Given the description of an element on the screen output the (x, y) to click on. 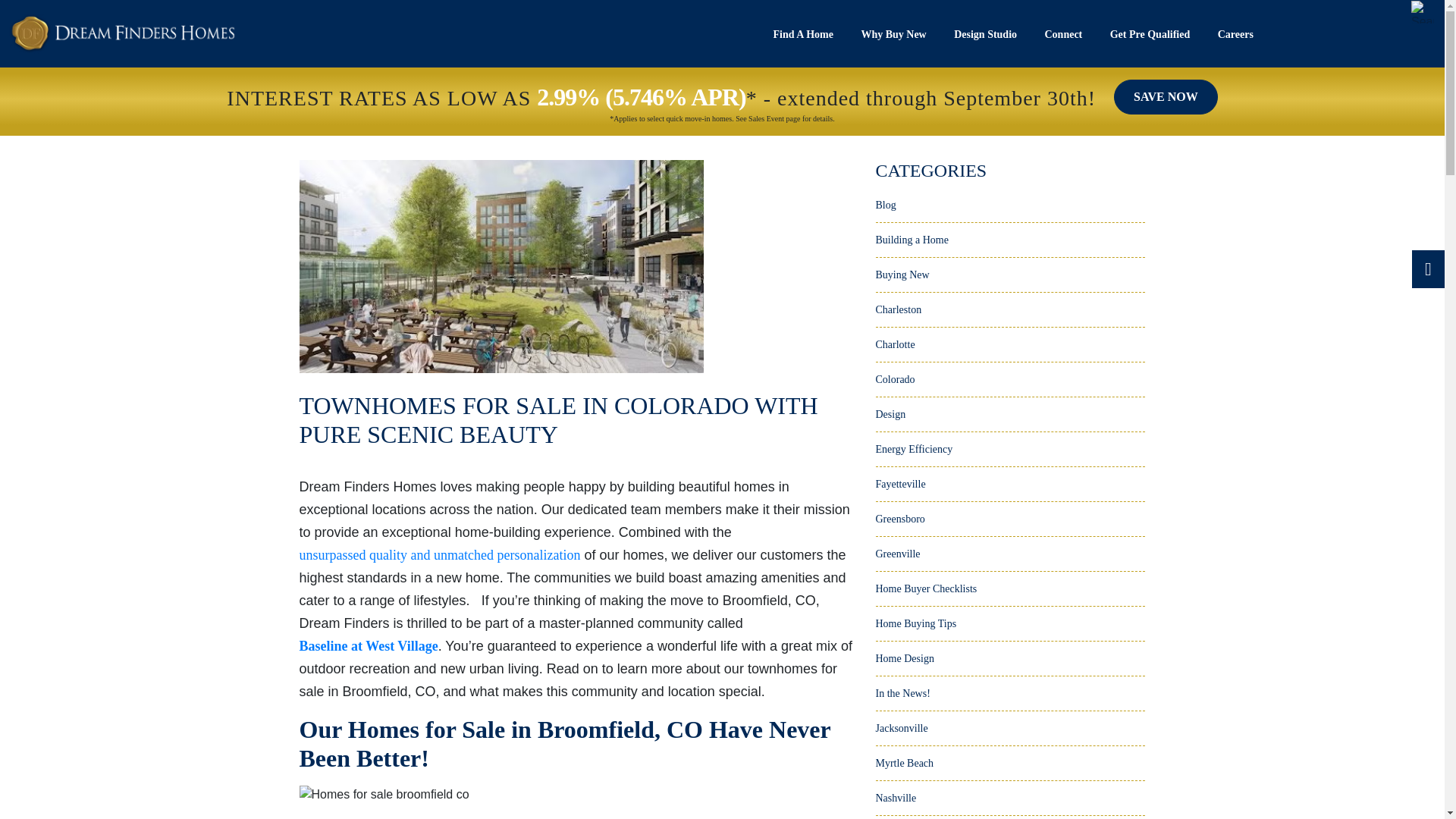
Why Buy New (892, 42)
Find A Home (803, 42)
Dream Finders Homes (121, 33)
